Given the description of an element on the screen output the (x, y) to click on. 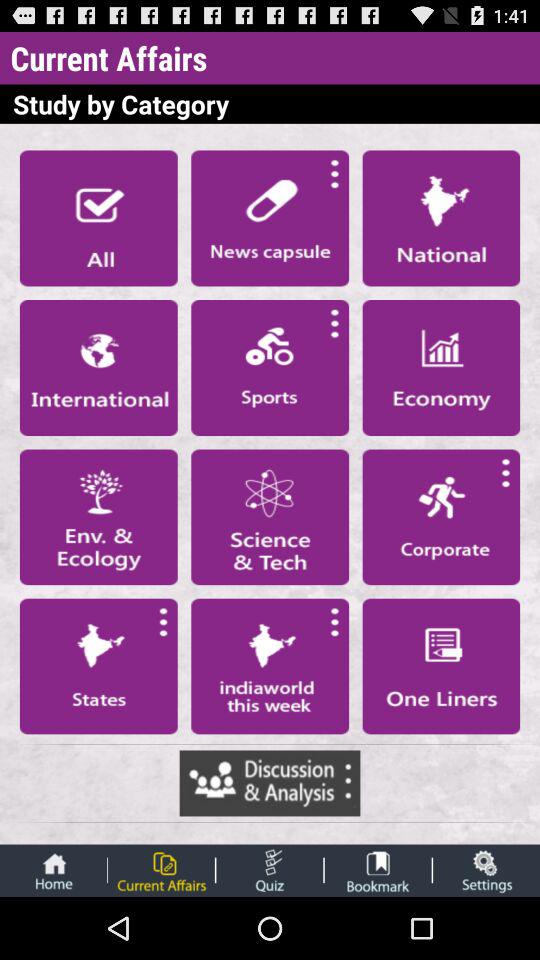
category button (98, 517)
